Given the description of an element on the screen output the (x, y) to click on. 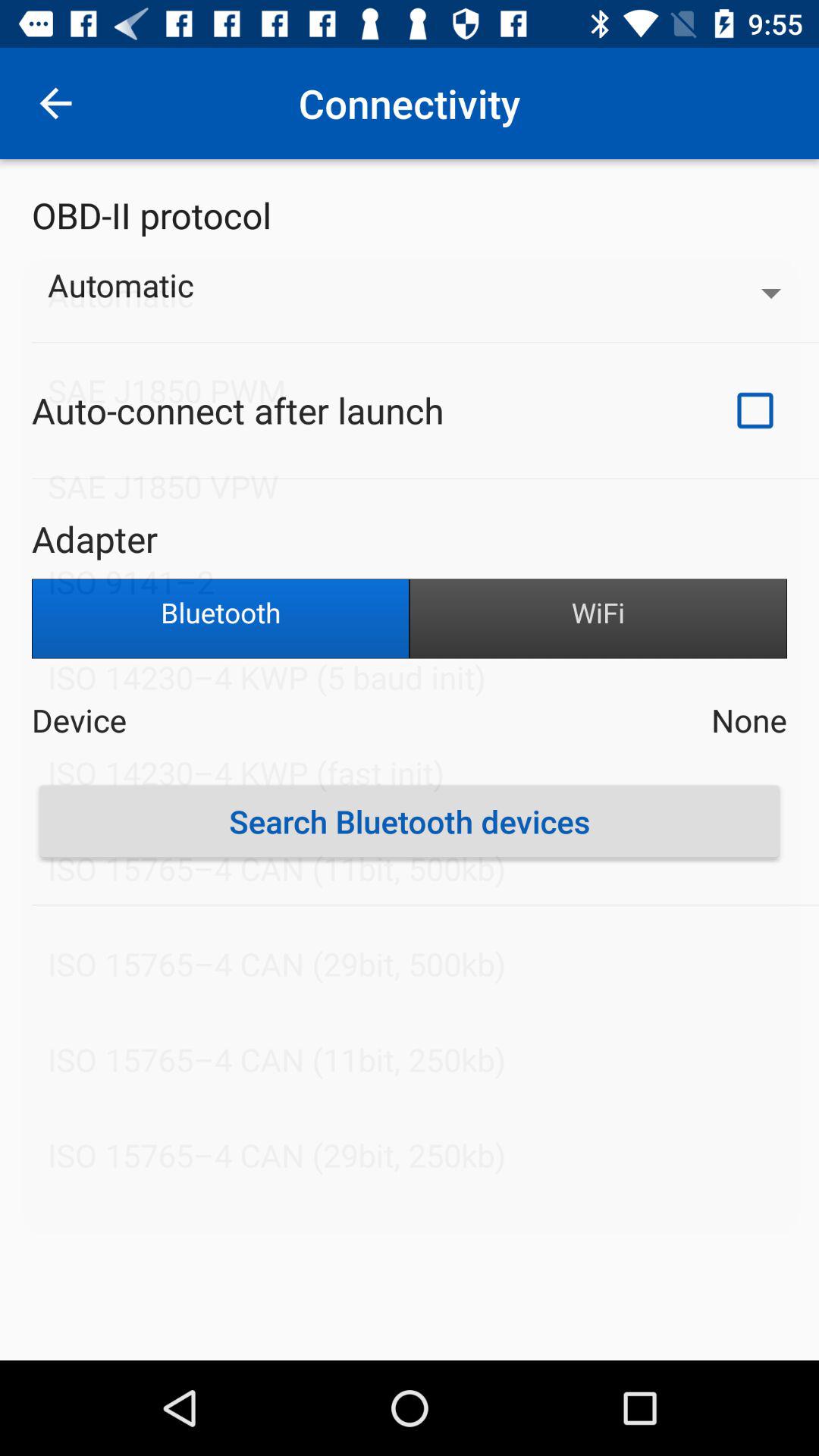
select bluetooth button on page (220, 619)
